Given the description of an element on the screen output the (x, y) to click on. 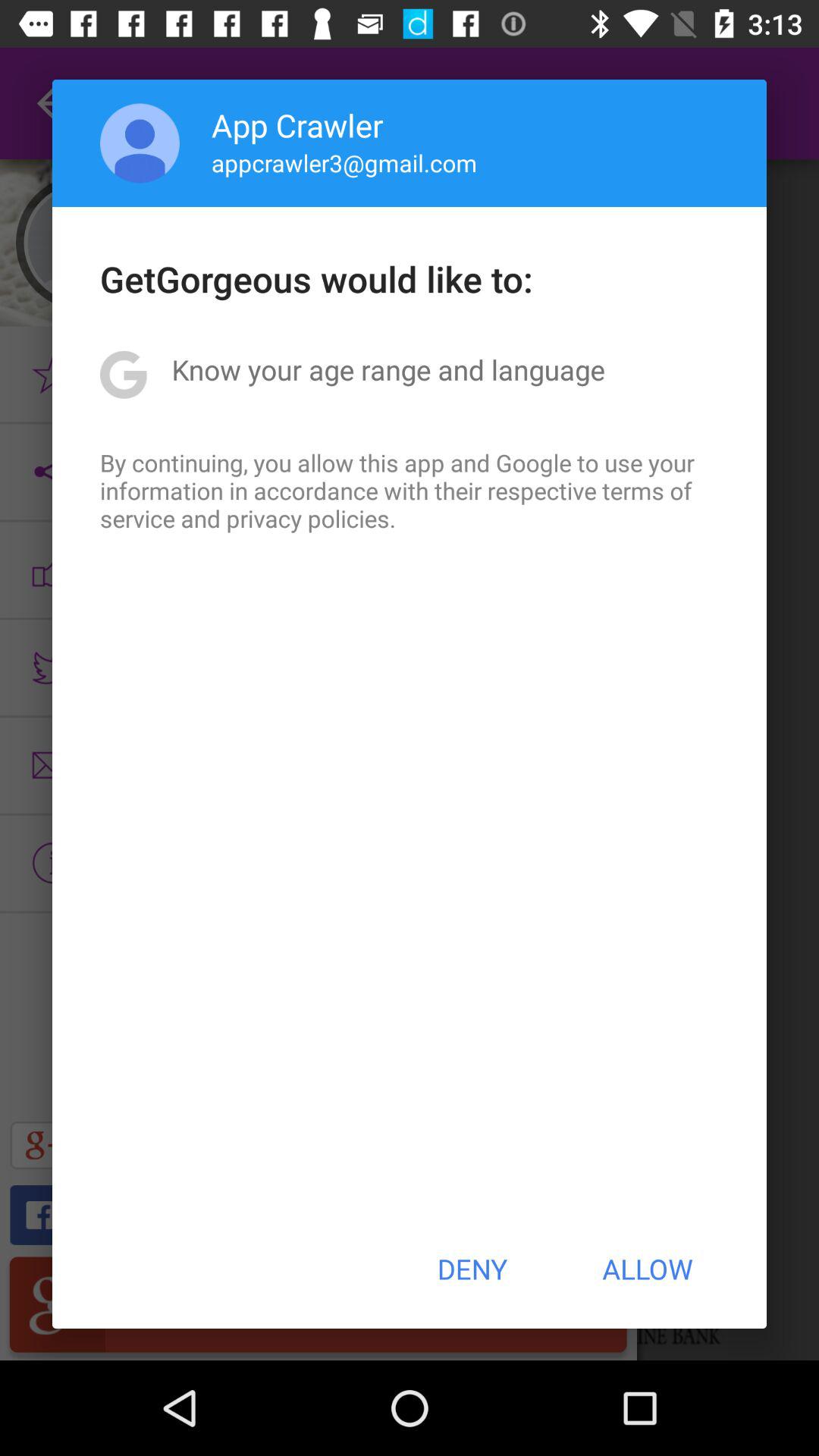
launch icon above getgorgeous would like item (344, 162)
